Given the description of an element on the screen output the (x, y) to click on. 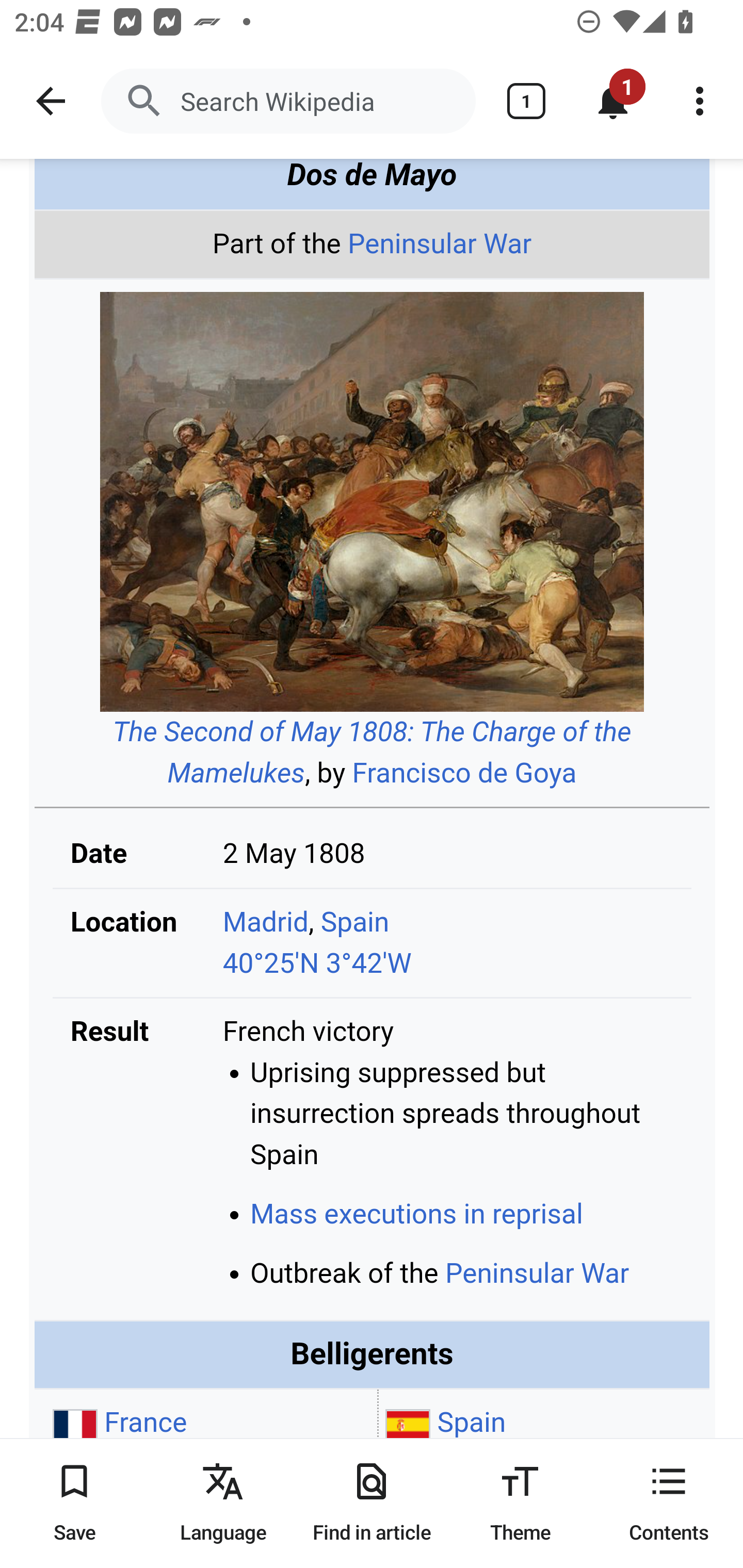
Show tabs 1 (525, 100)
Notifications 1 (612, 100)
Navigate up (50, 101)
More options (699, 101)
Search Wikipedia (288, 100)
Peninsular War (439, 245)
602px-El_dos_de_mayo_de_1808_en_Madrid (371, 504)
Francisco de Goya (464, 774)
Madrid (266, 923)
Spain (354, 923)
40°25′N 3°42′W 40°25′N   3°42′W (317, 964)
Mass executions in reprisal (415, 1214)
Peninsular War (537, 1274)
France (144, 1423)
Spain (471, 1423)
Save (74, 1502)
Language (222, 1502)
Find in article (371, 1502)
Theme (519, 1502)
Contents (668, 1502)
